Given the description of an element on the screen output the (x, y) to click on. 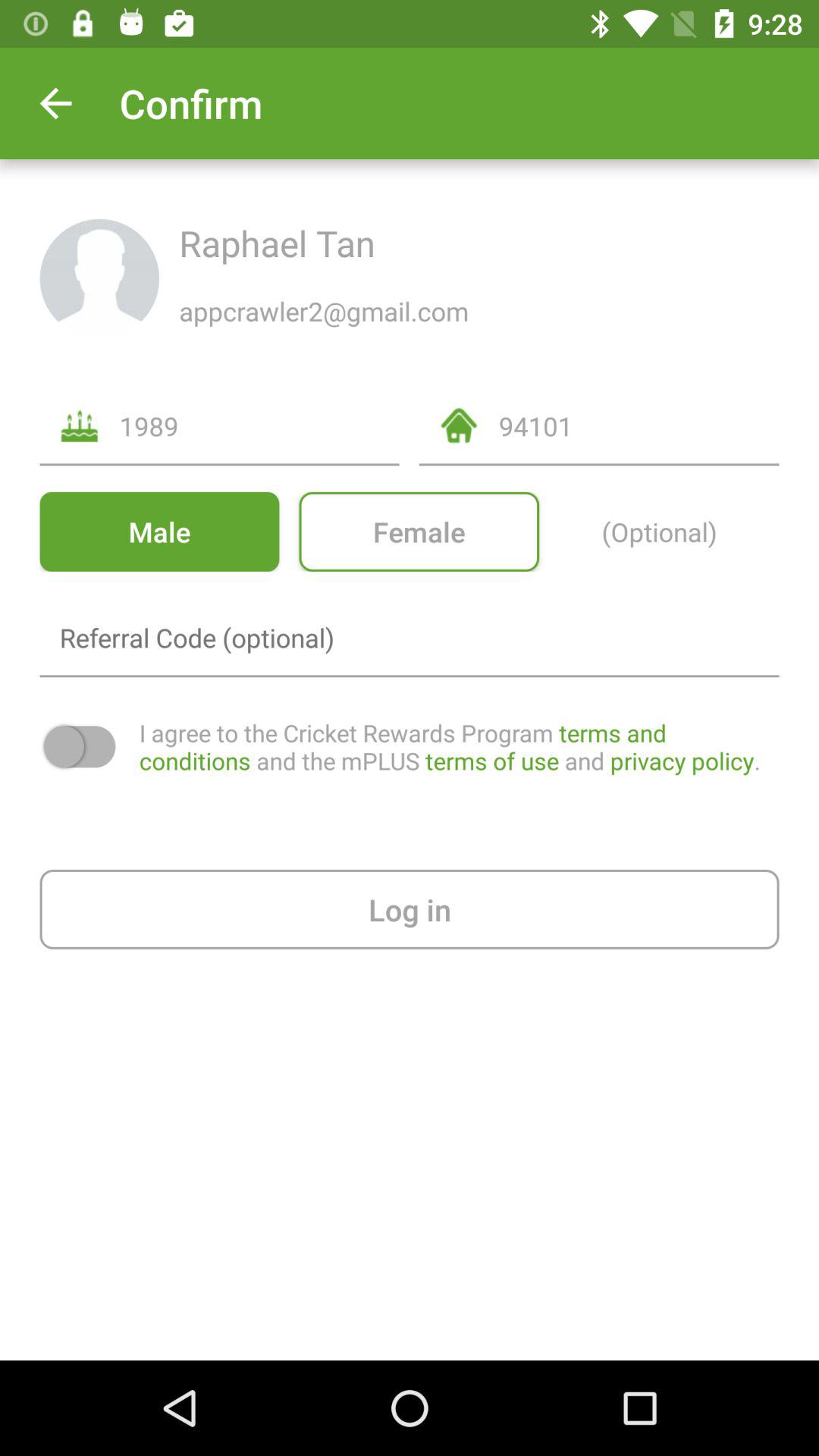
open the log in (409, 909)
